Given the description of an element on the screen output the (x, y) to click on. 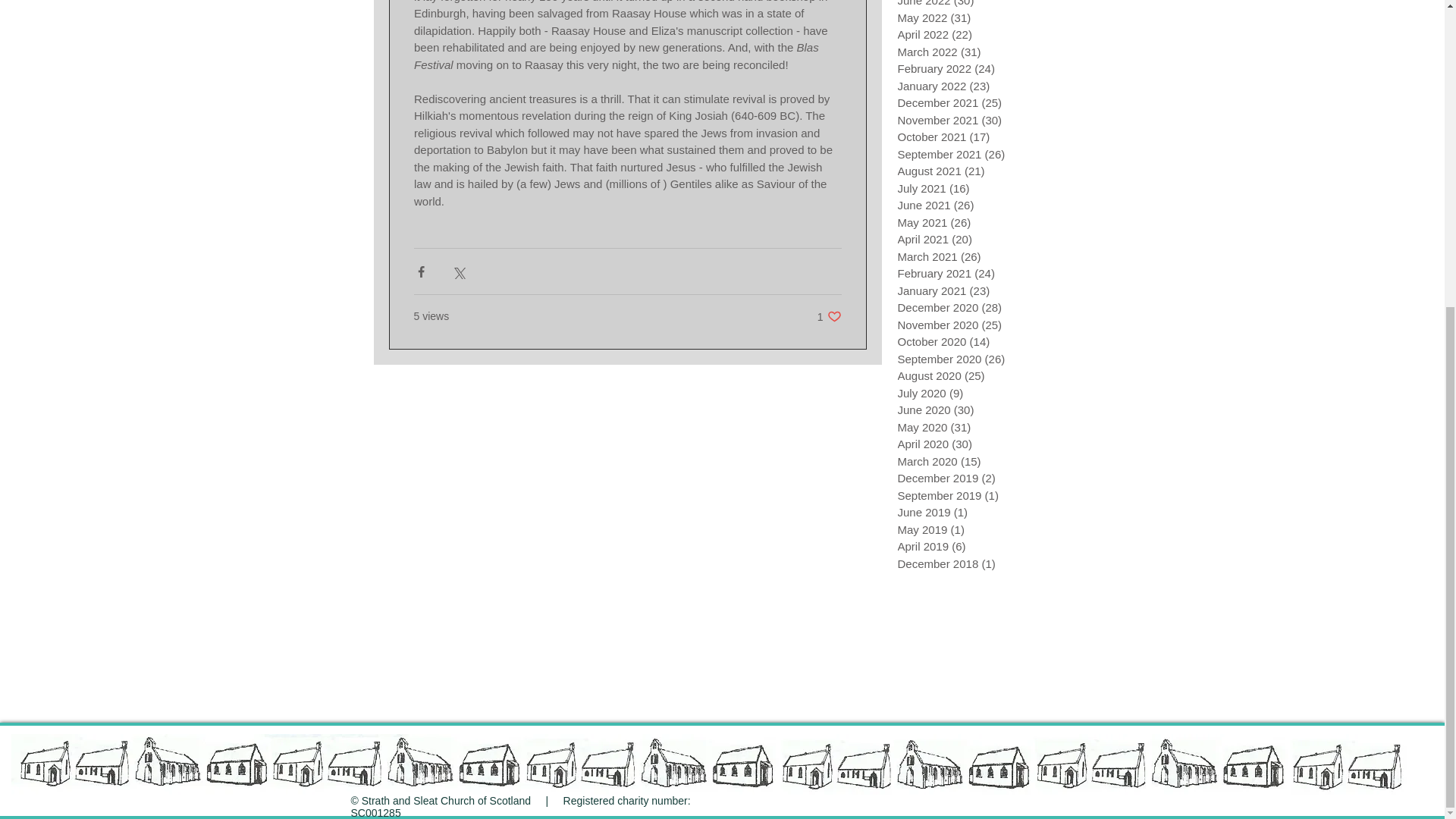
Churches sketches.jpg (712, 763)
